Given the description of an element on the screen output the (x, y) to click on. 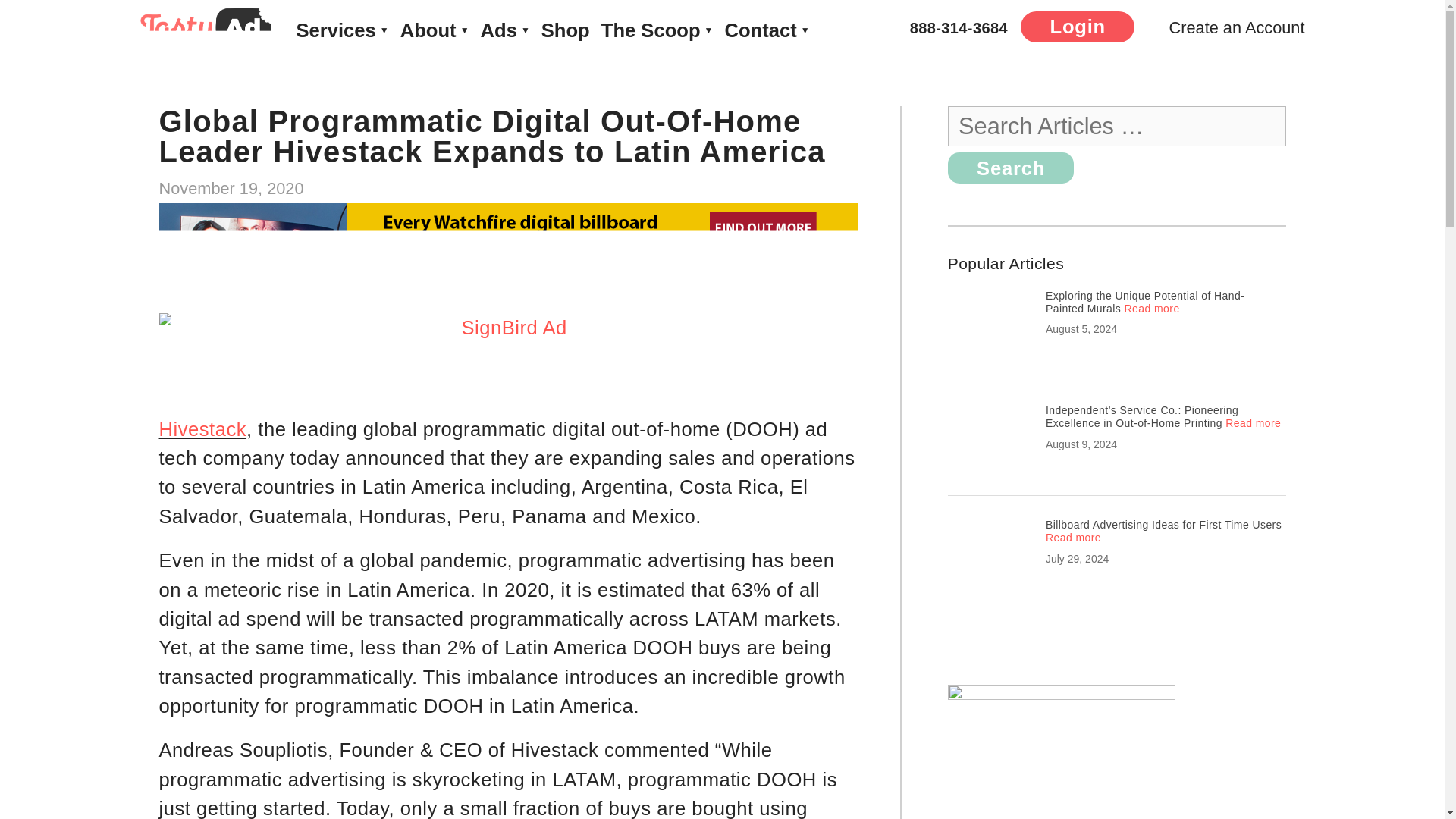
Create an Account (1227, 27)
Contact (766, 30)
Search (1010, 167)
Login (1077, 26)
Services (341, 30)
About (434, 30)
888-314-3684 (958, 27)
Ads (504, 30)
Search (1010, 167)
The Scoop (657, 30)
